Given the description of an element on the screen output the (x, y) to click on. 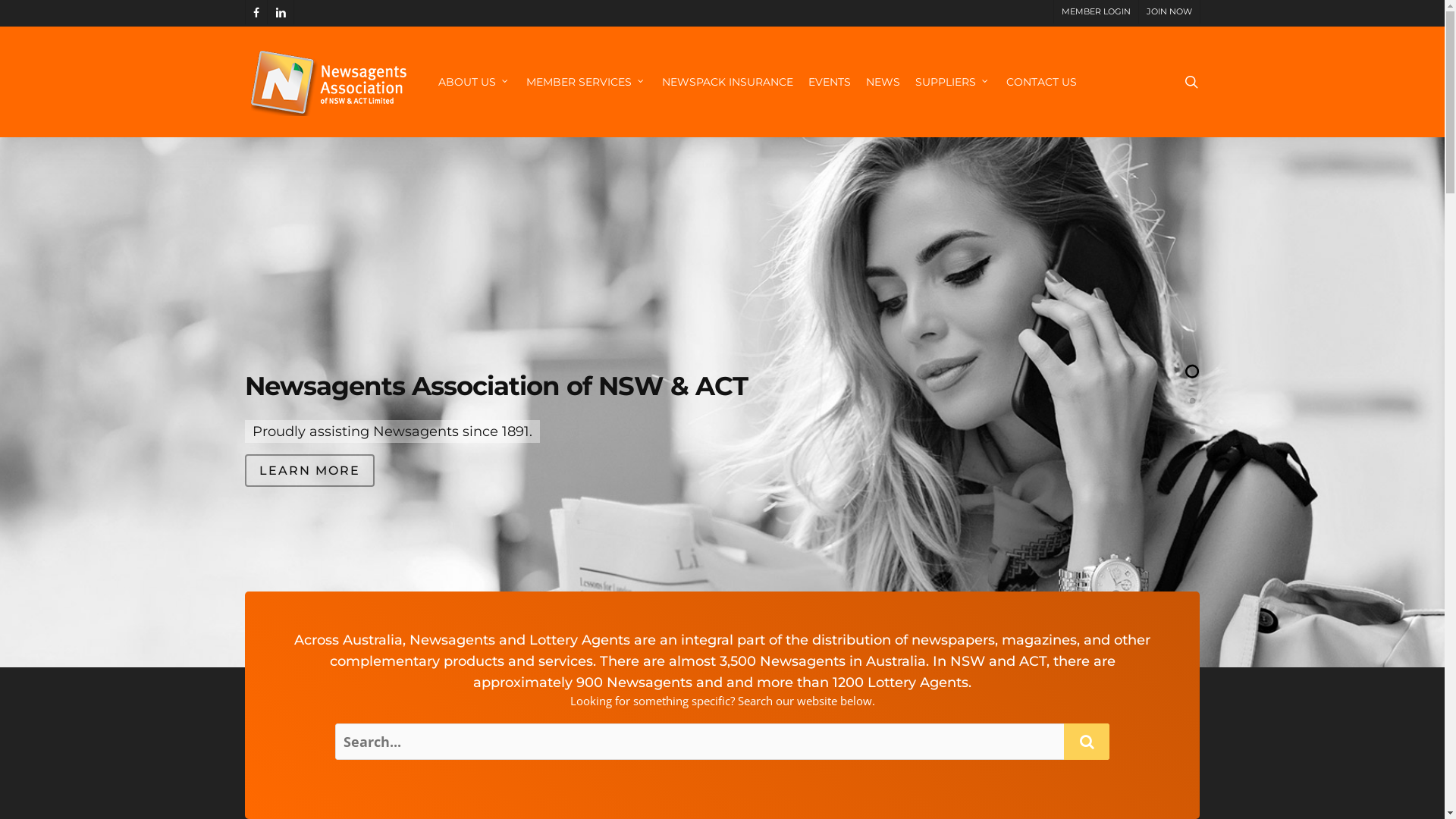
Search for: Element type: hover (722, 741)
NEWSPACK INSURANCE Element type: text (726, 81)
CONTACT US Element type: text (1040, 81)
LINKEDIN Element type: text (279, 12)
NEWS Element type: text (883, 81)
JOIN NOW Element type: text (1167, 11)
ABOUT US Element type: text (474, 81)
SUPPLIERS Element type: text (952, 81)
FACEBOOK Element type: text (255, 12)
MEMBER LOGIN Element type: text (1094, 11)
MEMBER SERVICES Element type: text (586, 81)
EVENTS Element type: text (829, 81)
LEARN MORE Element type: text (309, 470)
search Element type: text (1190, 81)
